Given the description of an element on the screen output the (x, y) to click on. 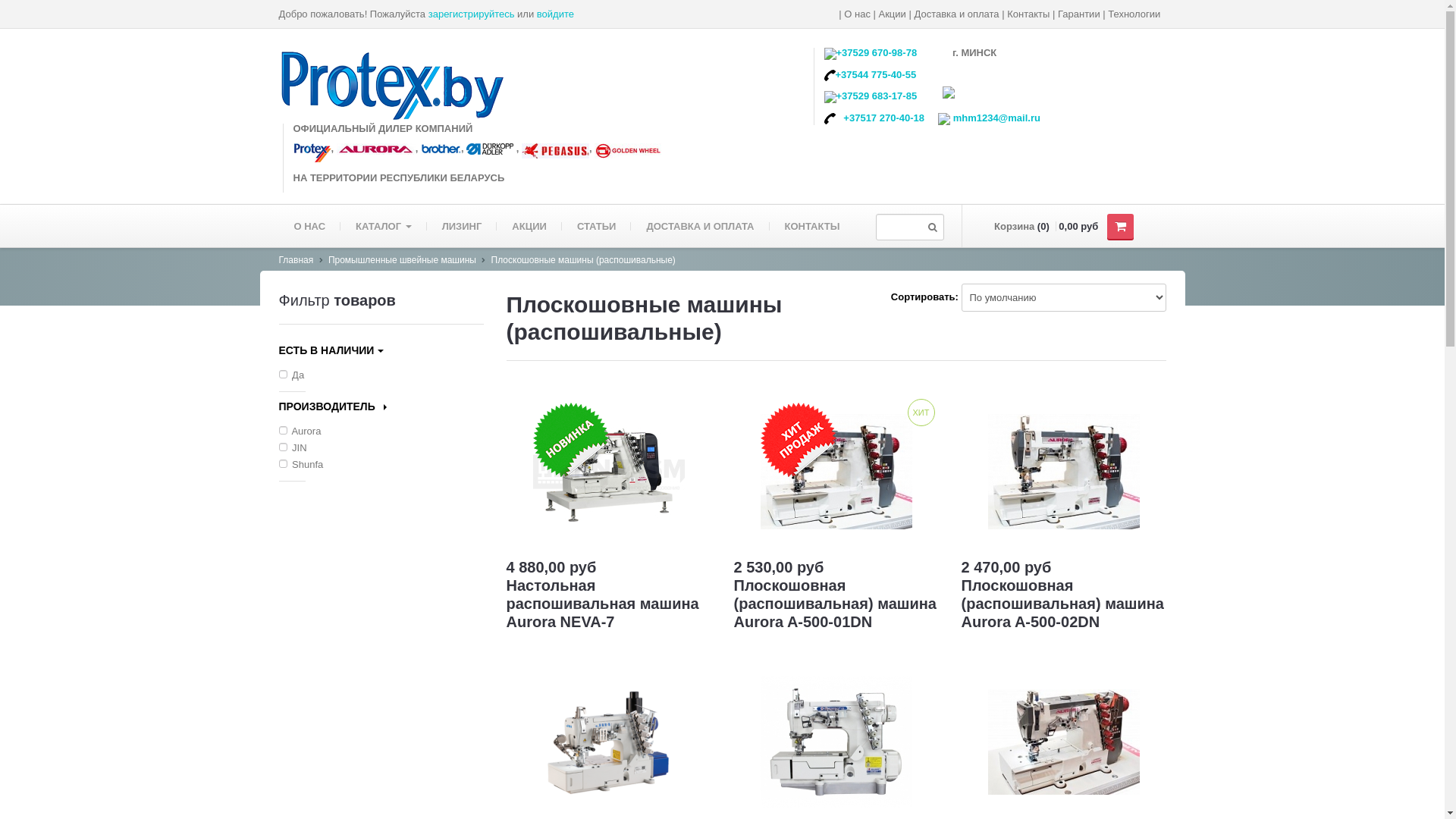
+37544 775-40-55 Element type: text (875, 74)
+37529 670-98-78 Element type: text (875, 52)
Aurora Element type: text (381, 430)
+37517 270-40-18 Element type: text (883, 117)
mhm1234@mail.ru Element type: text (995, 117)
Shunfa Element type: text (381, 464)
+37529 683-17-85 Element type: text (875, 95)
JIN Element type: text (381, 447)
